Given the description of an element on the screen output the (x, y) to click on. 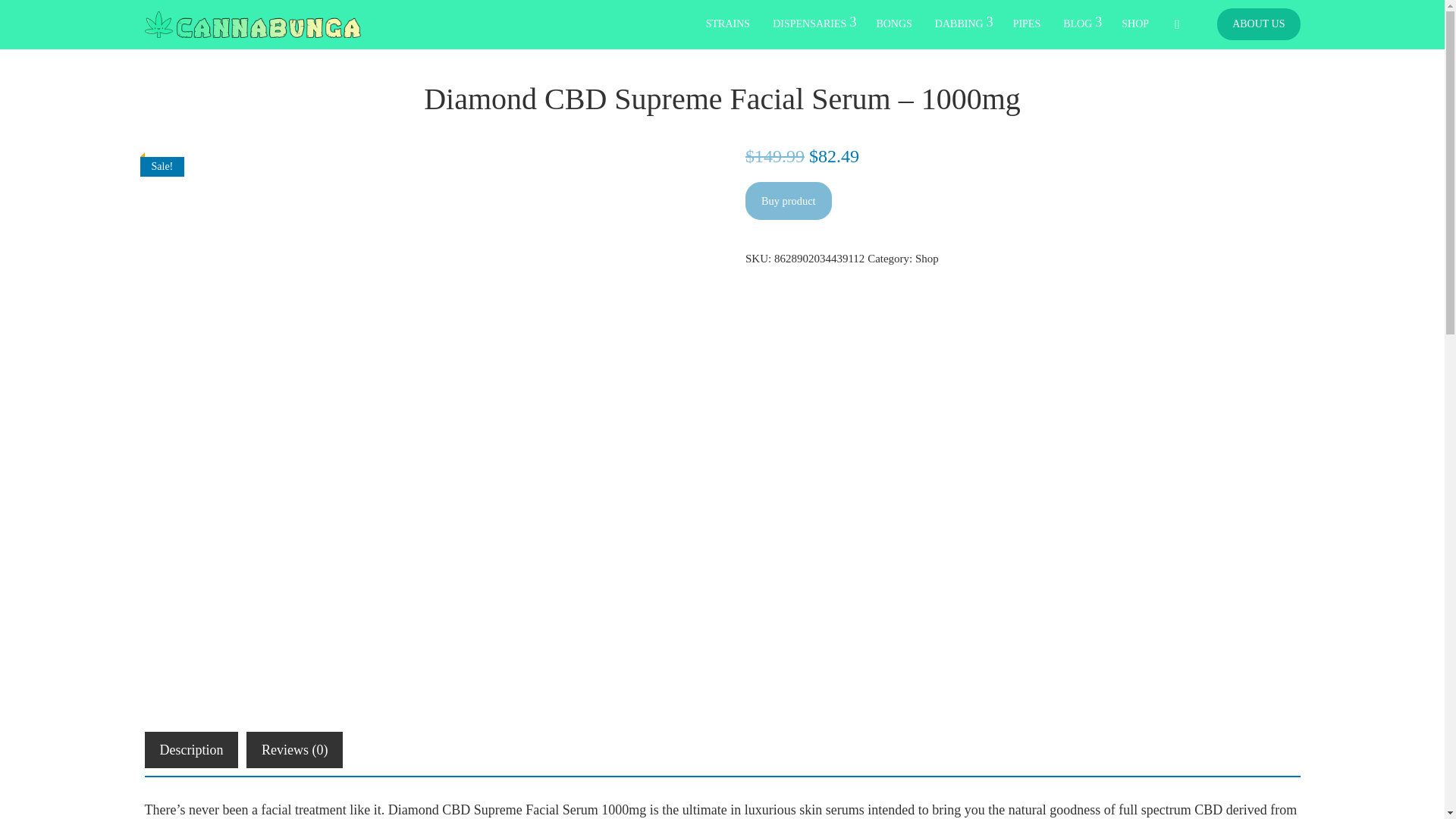
DABBING (962, 24)
DISPENSARIES (813, 24)
BLOG (1080, 24)
STRAINS (727, 24)
BONGS (893, 24)
ABOUT US (1258, 24)
